Given the description of an element on the screen output the (x, y) to click on. 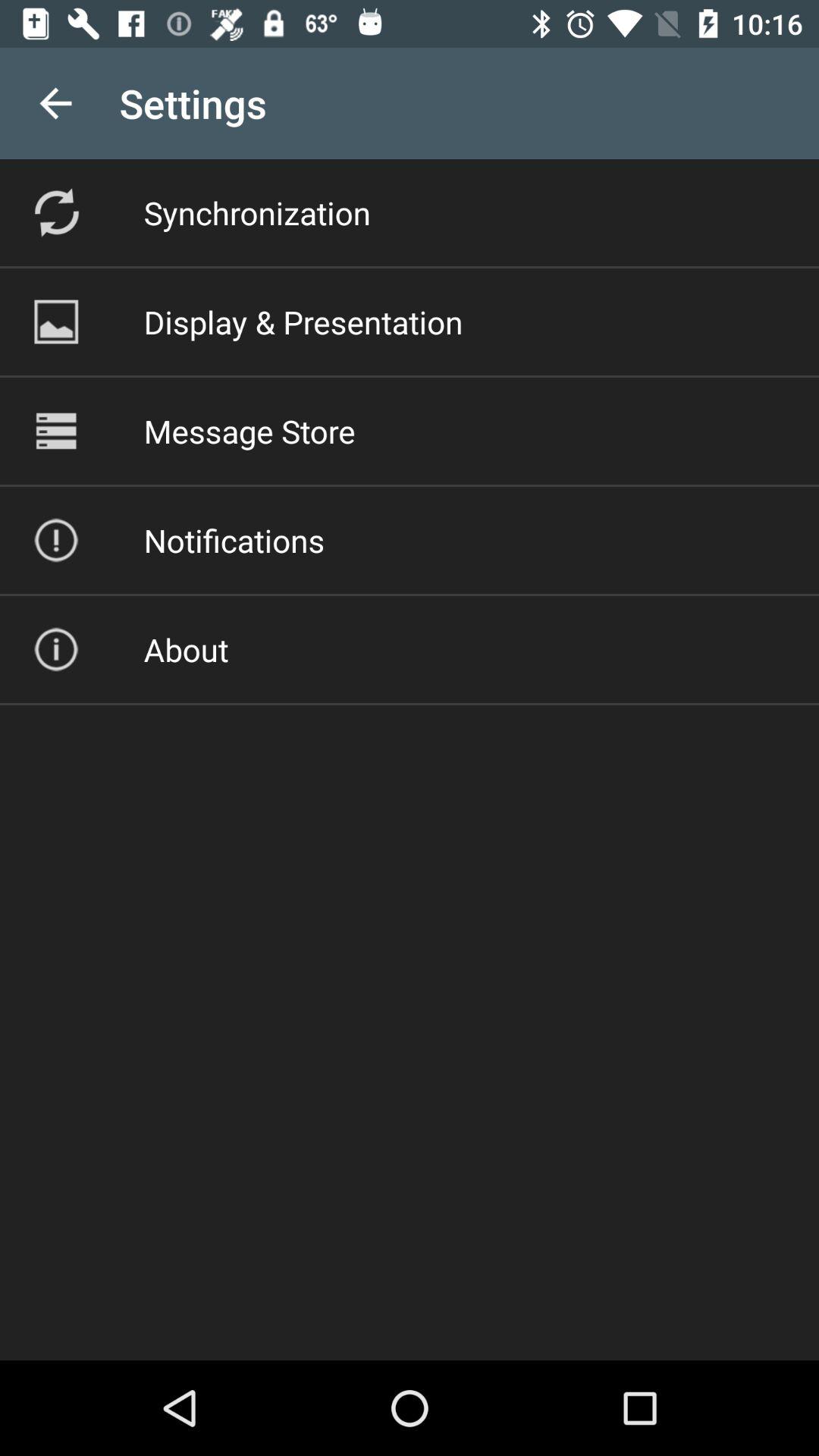
turn off notifications icon (233, 539)
